Given the description of an element on the screen output the (x, y) to click on. 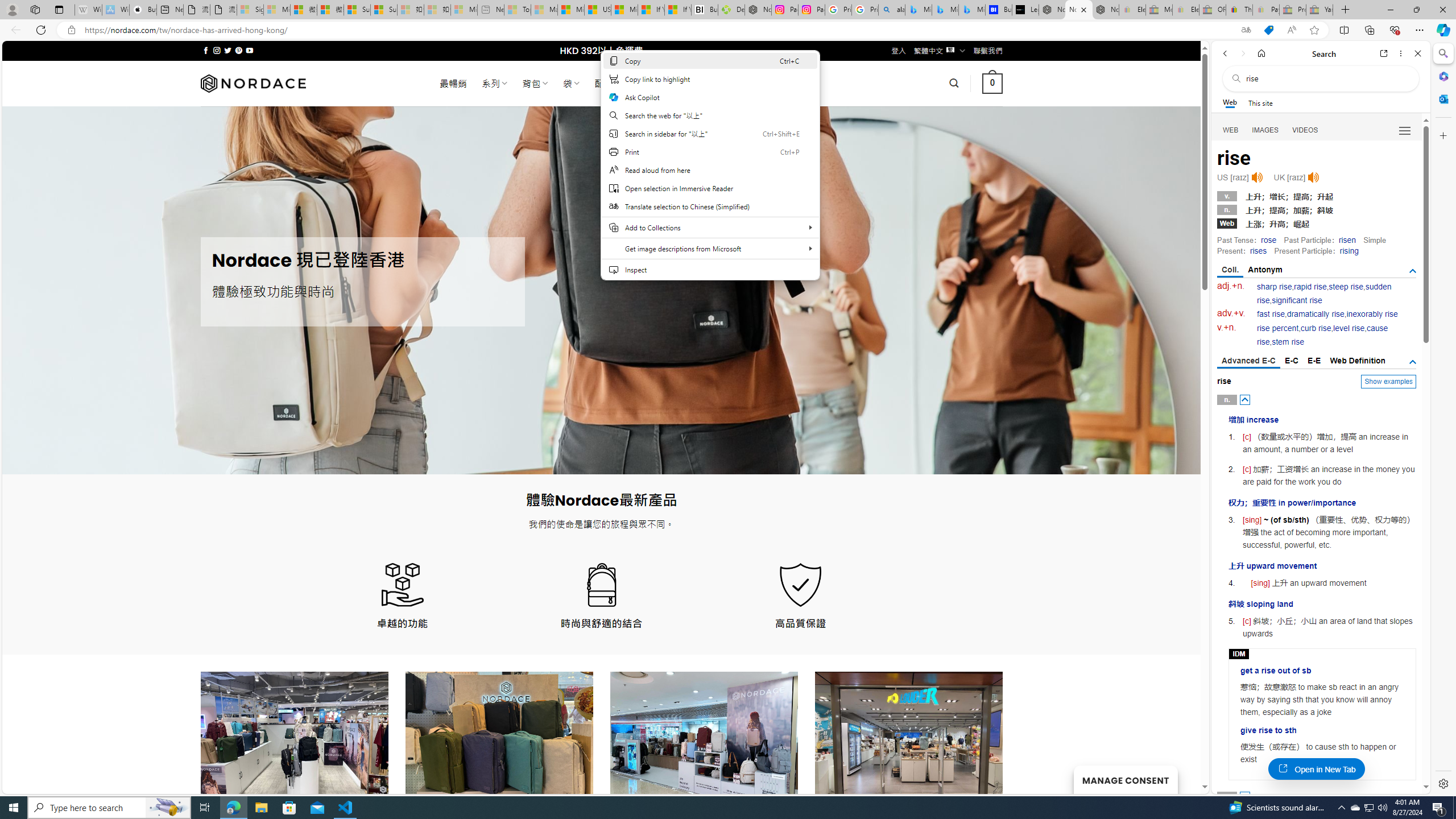
E-E (1314, 360)
Search Filter, WEB (1231, 129)
Add to Collections (710, 227)
rise percent (1277, 328)
Follow on Pinterest (237, 50)
